Given the description of an element on the screen output the (x, y) to click on. 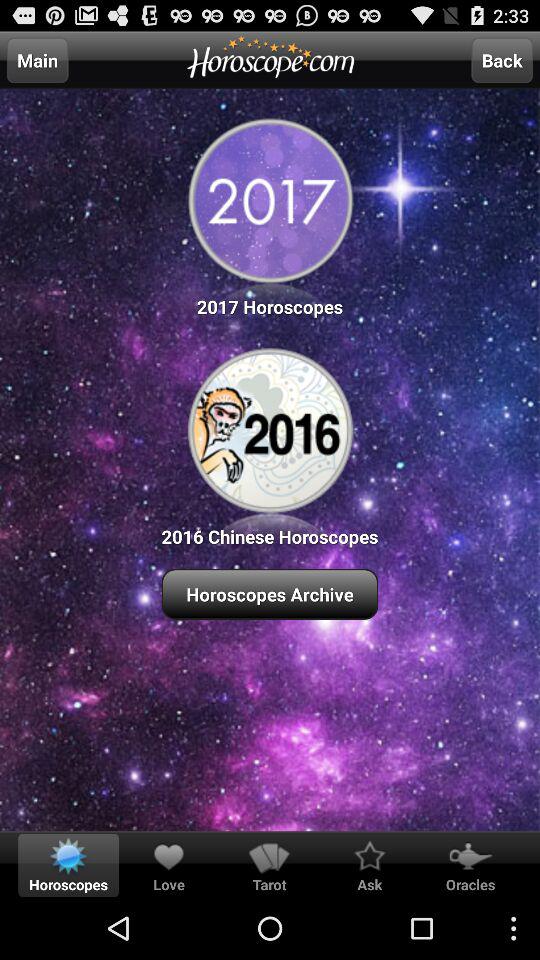
launch the button below 2016 chinese horoscopes (269, 593)
